Given the description of an element on the screen output the (x, y) to click on. 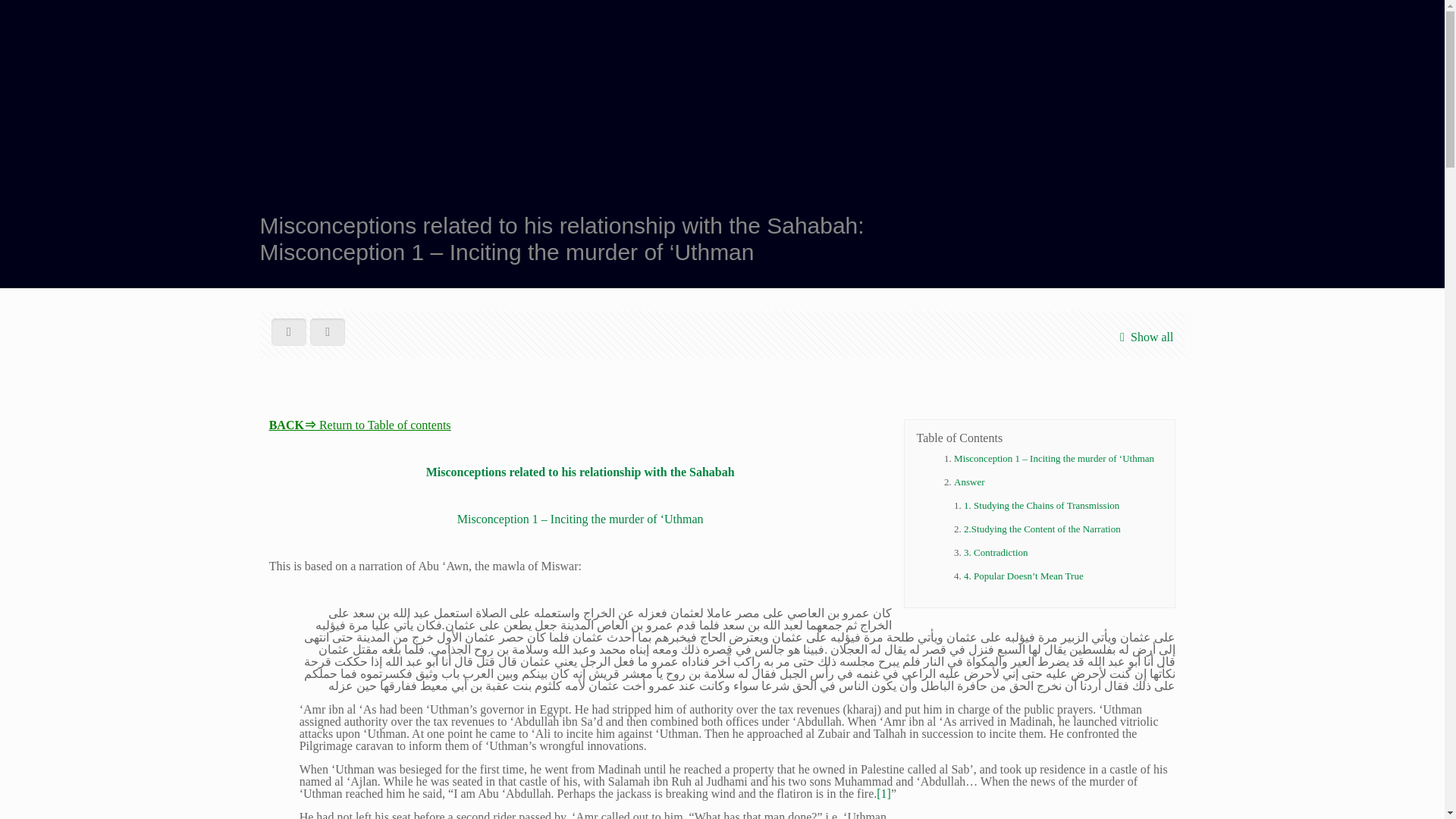
Answer (968, 481)
Show all (1143, 336)
2.Studying the Content of the Narration (1042, 528)
3. Contradiction (995, 552)
1. Studying the Chains of Transmission (1041, 505)
